Given the description of an element on the screen output the (x, y) to click on. 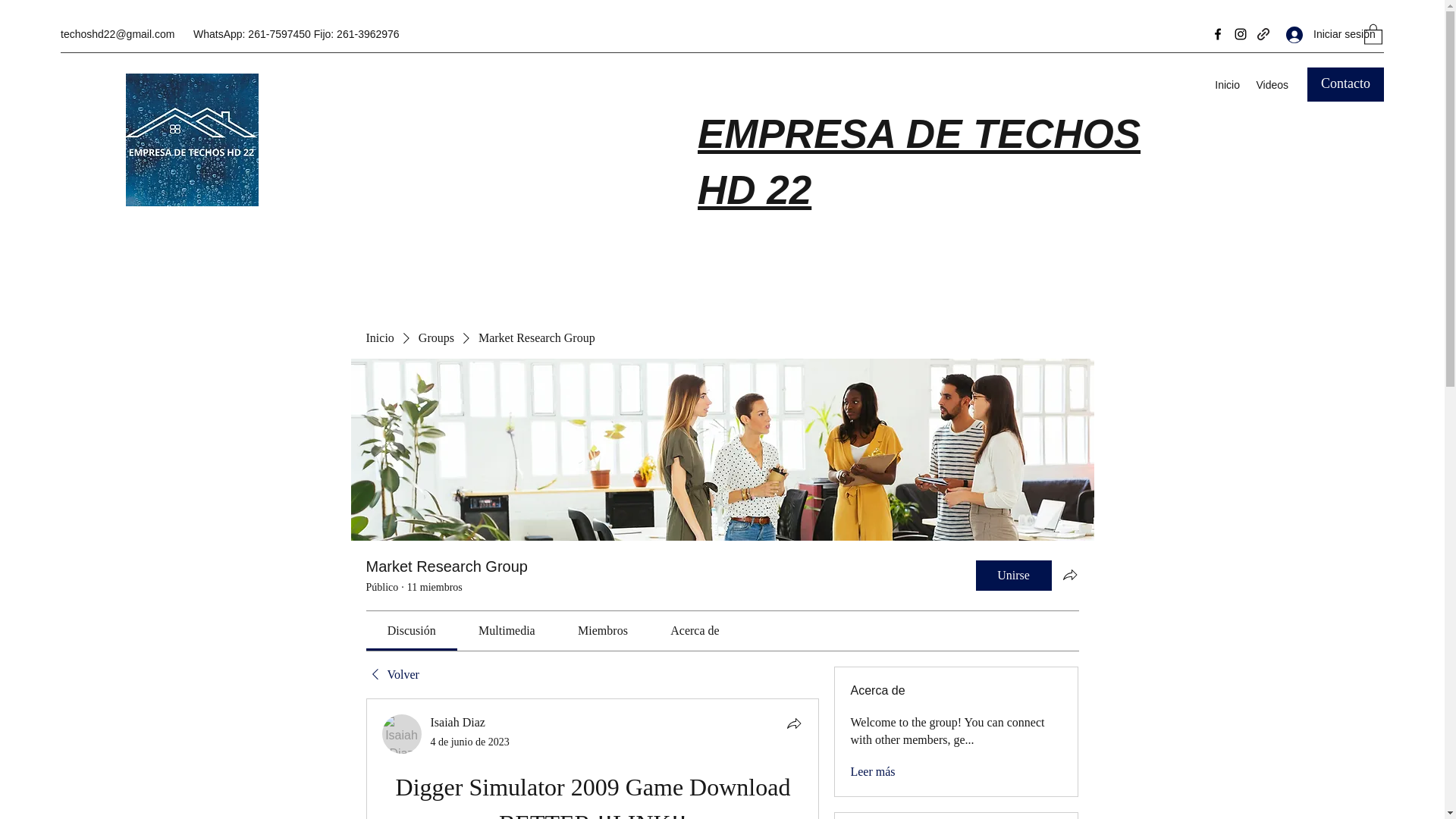
Videos (1271, 84)
Isaiah Diaz (457, 721)
Groups (436, 338)
EMPRESA DE TECHOS HD 22 (918, 161)
4 de junio de 2023 (469, 741)
Unirse (1013, 575)
Inicio (1227, 84)
Volver (392, 674)
Contacto (1345, 84)
Isaiah Diaz (401, 733)
Inicio (379, 338)
